Given the description of an element on the screen output the (x, y) to click on. 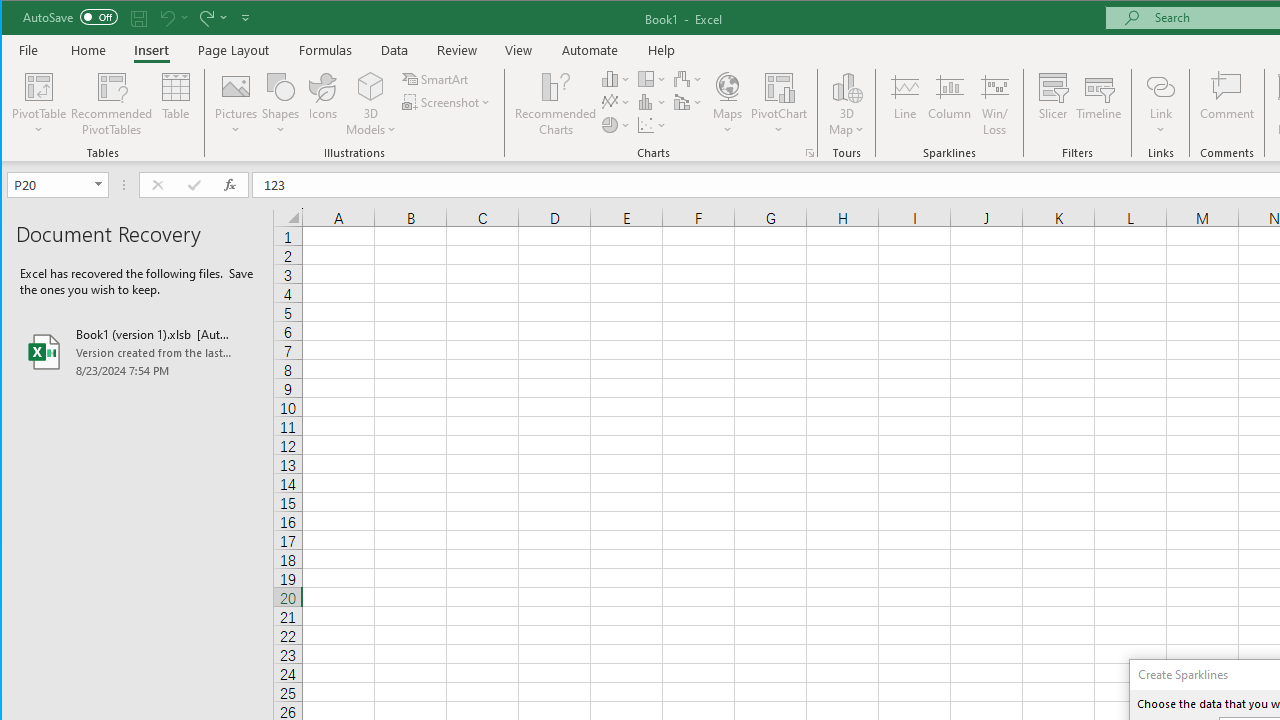
Insert Statistic Chart (652, 101)
Link (1160, 86)
Insert Combo Chart (688, 101)
Pictures (235, 104)
Comment (1227, 104)
